Given the description of an element on the screen output the (x, y) to click on. 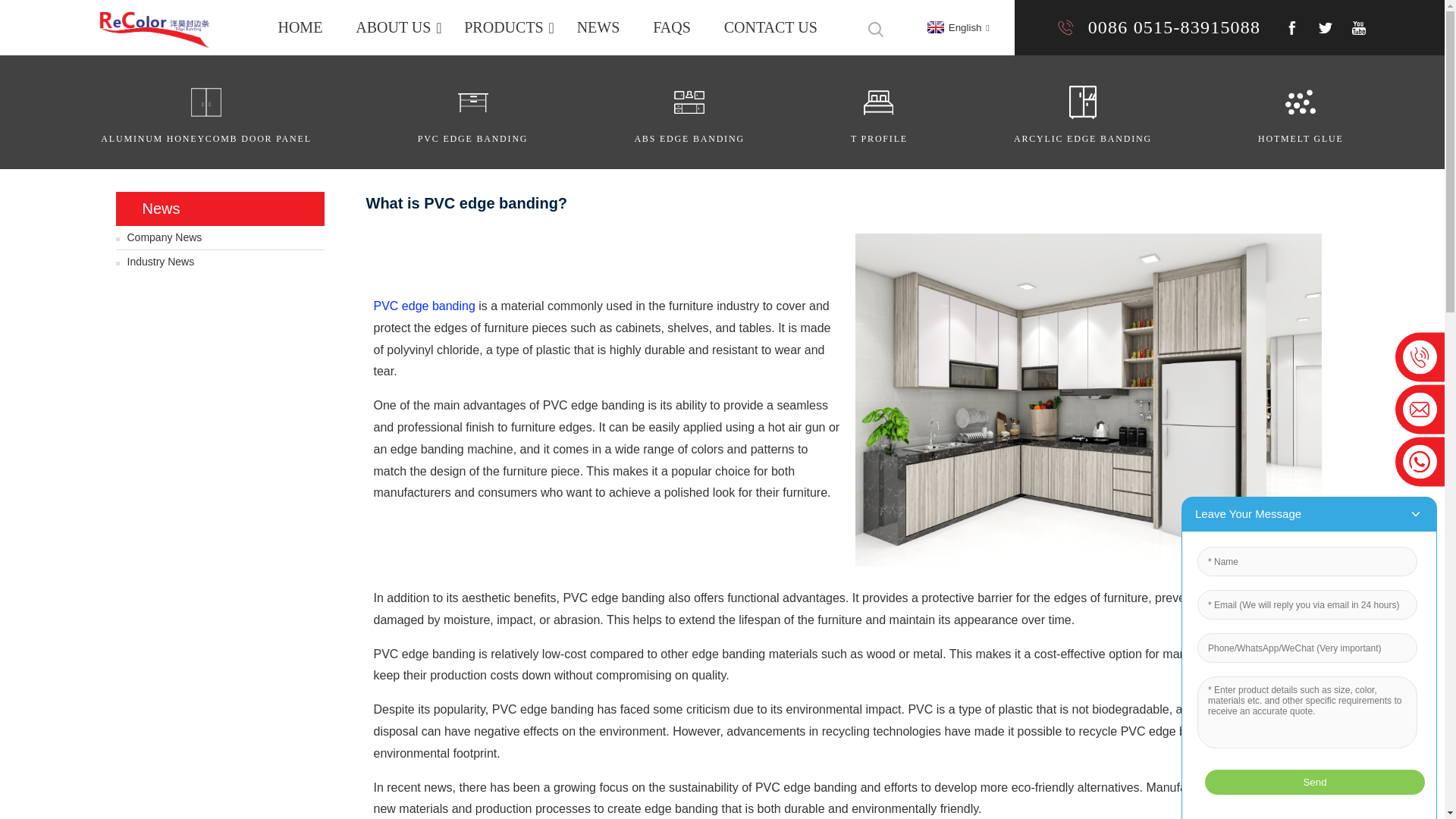
English (956, 26)
PRODUCTS (502, 27)
NEWS (598, 27)
ABOUT US (392, 27)
FAQS (671, 27)
CONTACT US (770, 27)
HOME (299, 27)
